Given the description of an element on the screen output the (x, y) to click on. 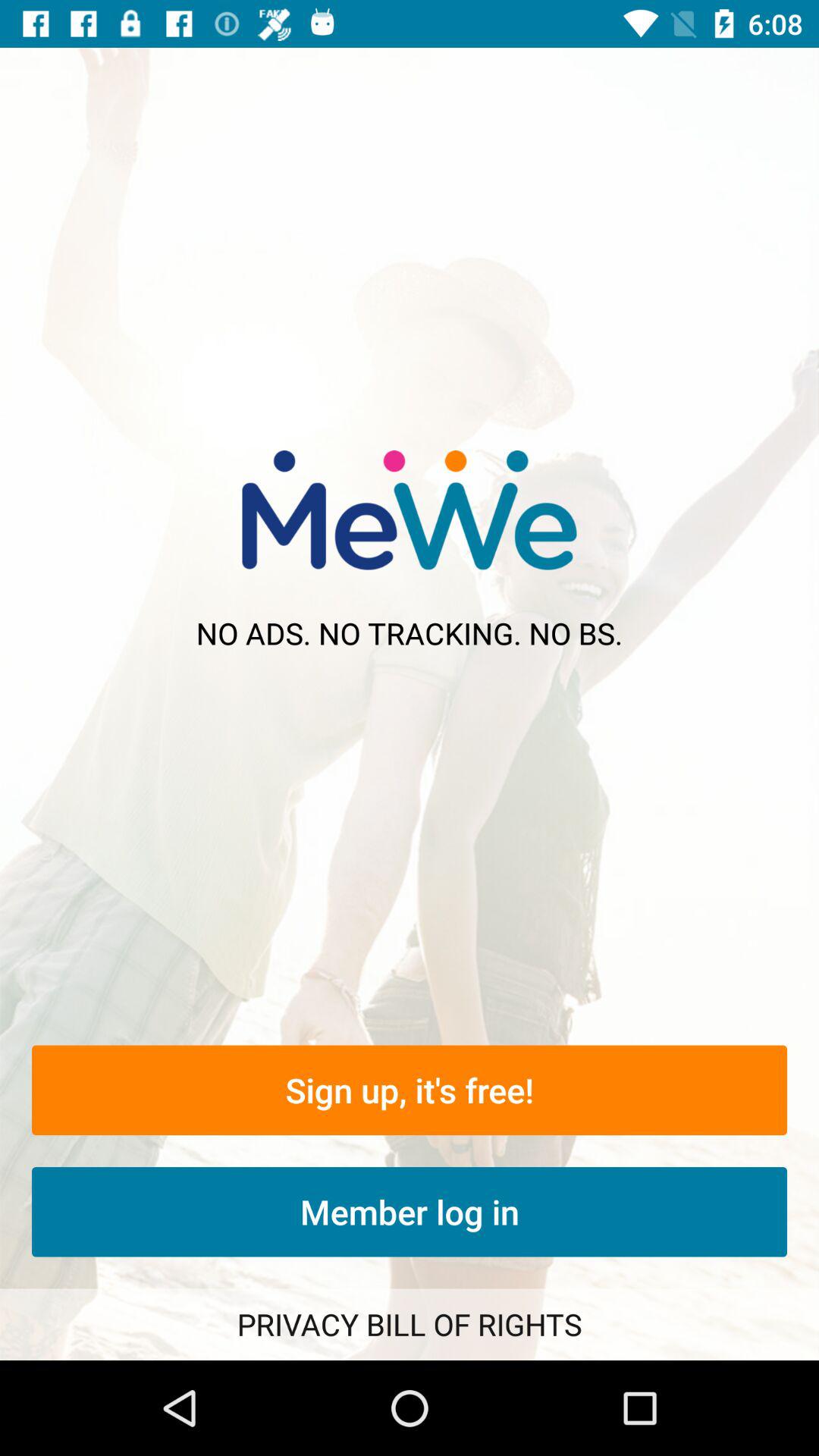
turn off the icon below the no ads no icon (409, 1090)
